Given the description of an element on the screen output the (x, y) to click on. 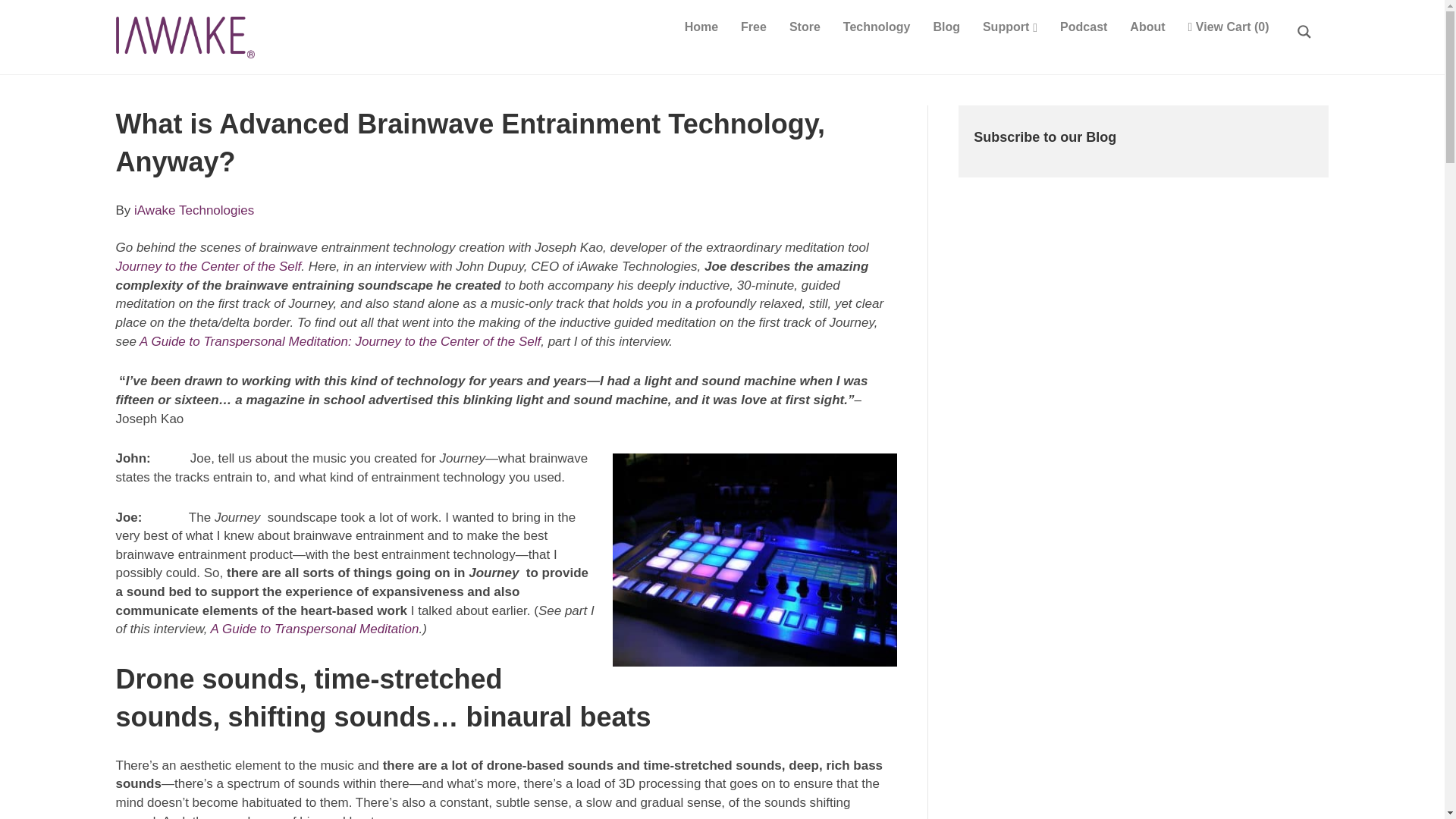
Home (700, 26)
Support (1009, 27)
Blog (946, 26)
Store (804, 26)
Technology (876, 26)
About (1147, 26)
Podcast (1083, 26)
Free (753, 26)
